Given the description of an element on the screen output the (x, y) to click on. 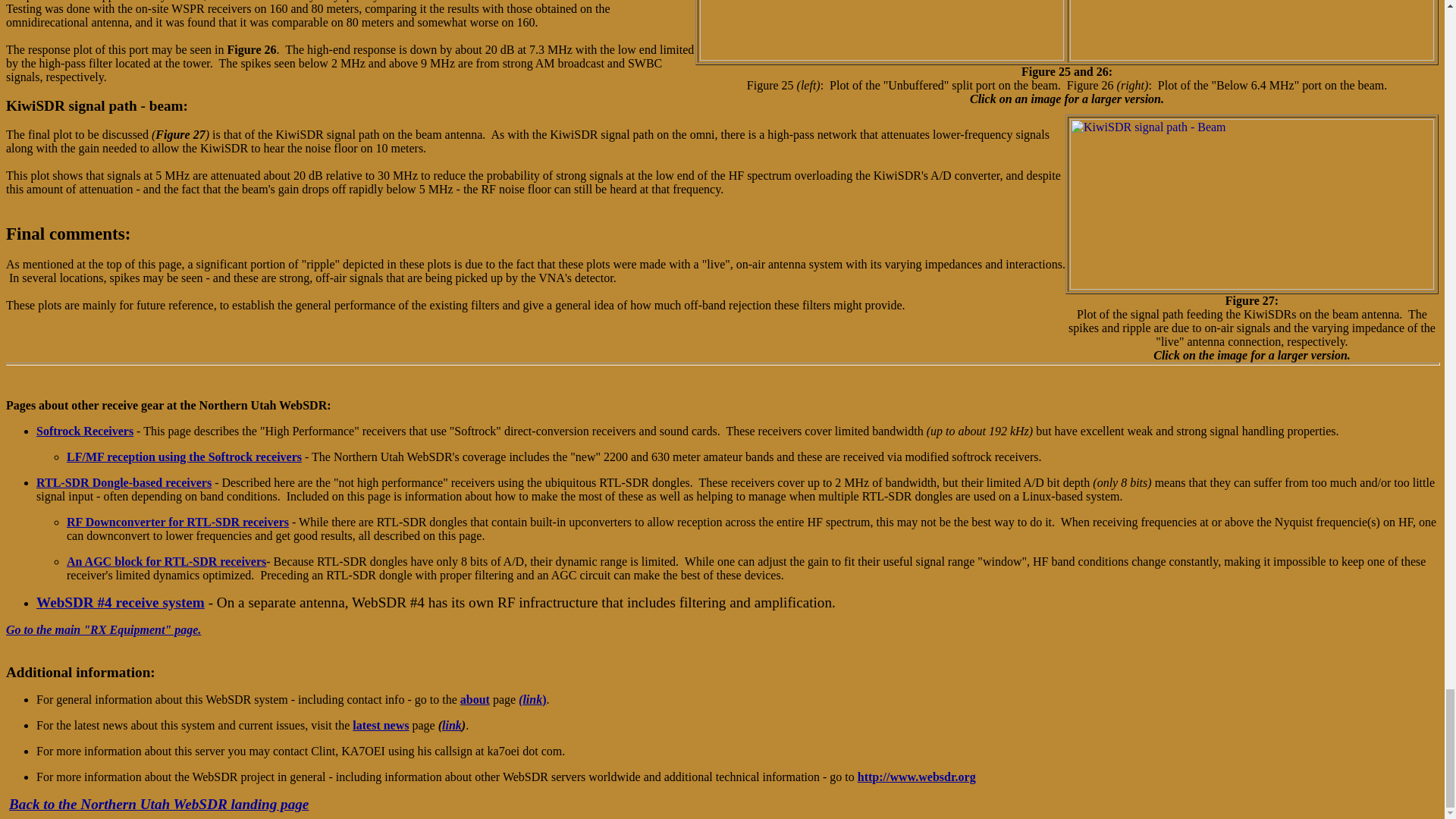
Softrock Receivers (84, 431)
latest news (380, 725)
RF Downconverter for RTL-SDR receivers (177, 521)
Go to the main "RX Equipment" page. (102, 629)
RTL-SDR Dongle-based receivers (123, 481)
about (474, 698)
An AGC block for RTL-SDR receivers (166, 561)
link (451, 725)
